Given the description of an element on the screen output the (x, y) to click on. 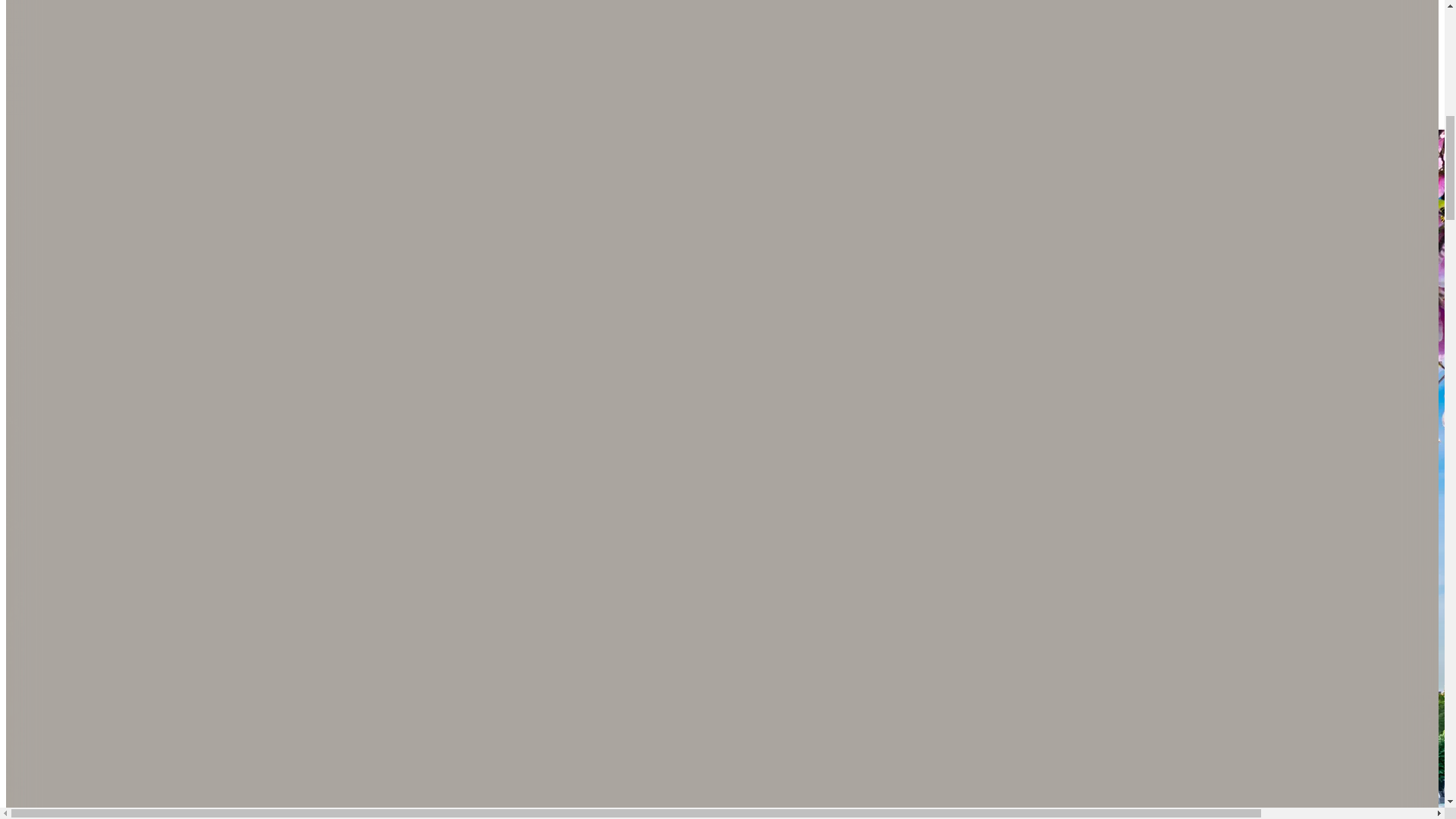
Louvre Museum Paris Tickets (78, 81)
Loire Valley Chateaux (60, 40)
Catacombs Paris Tickets (65, 2)
Orsay Museum Tickets (61, 94)
Arc de Triomphe Tickets (66, 67)
Palace of Versailles Tickets (71, 26)
Pantheon Paris Tickets (60, 12)
Mont Saint Michel (51, 53)
